Given the description of an element on the screen output the (x, y) to click on. 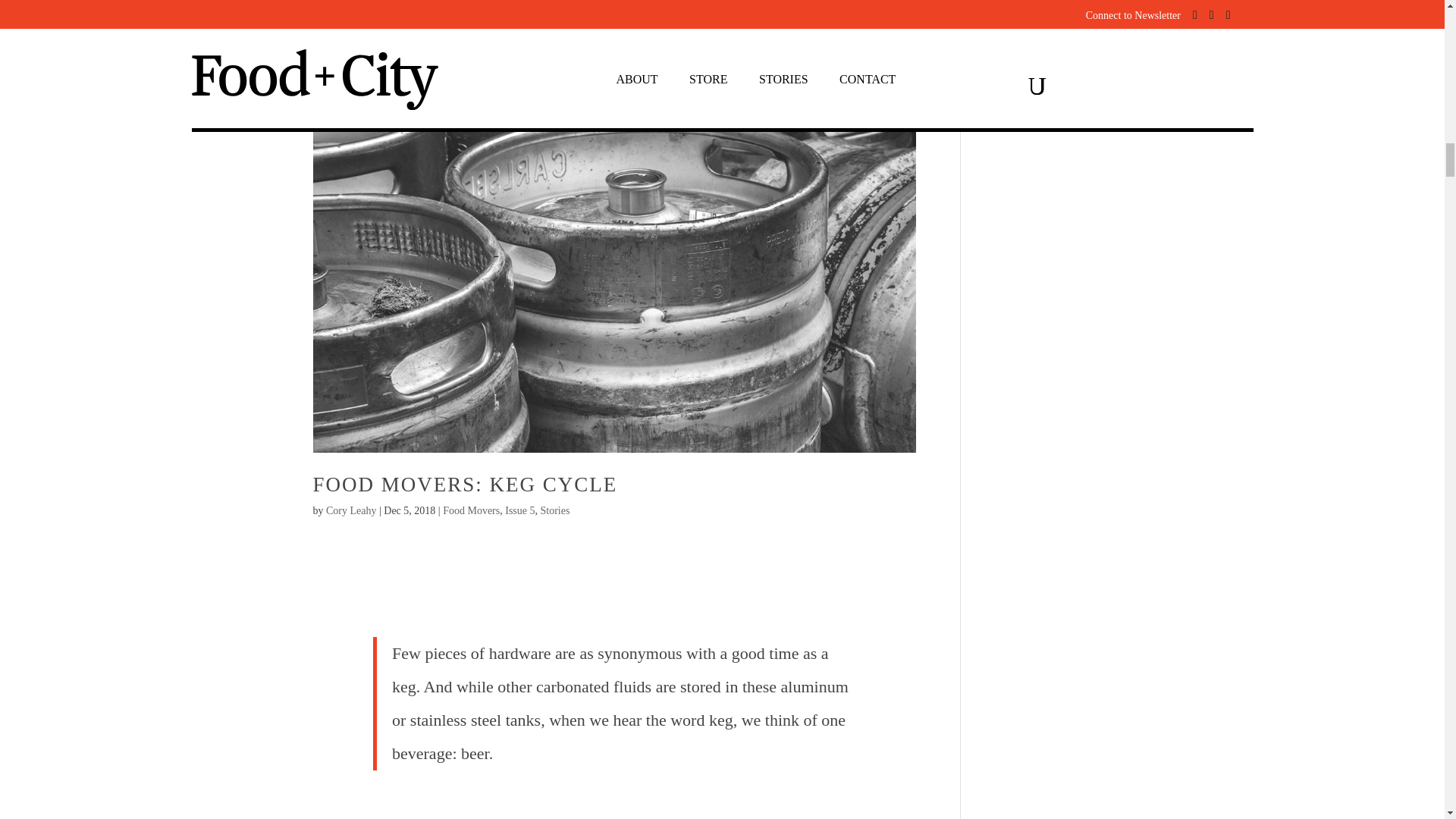
Posts by Cory Leahy (350, 510)
FOOD MOVERS: KEG CYCLE (465, 484)
Stories (554, 510)
Food Movers (470, 510)
Issue 5 (519, 510)
Cory Leahy (350, 510)
